Given the description of an element on the screen output the (x, y) to click on. 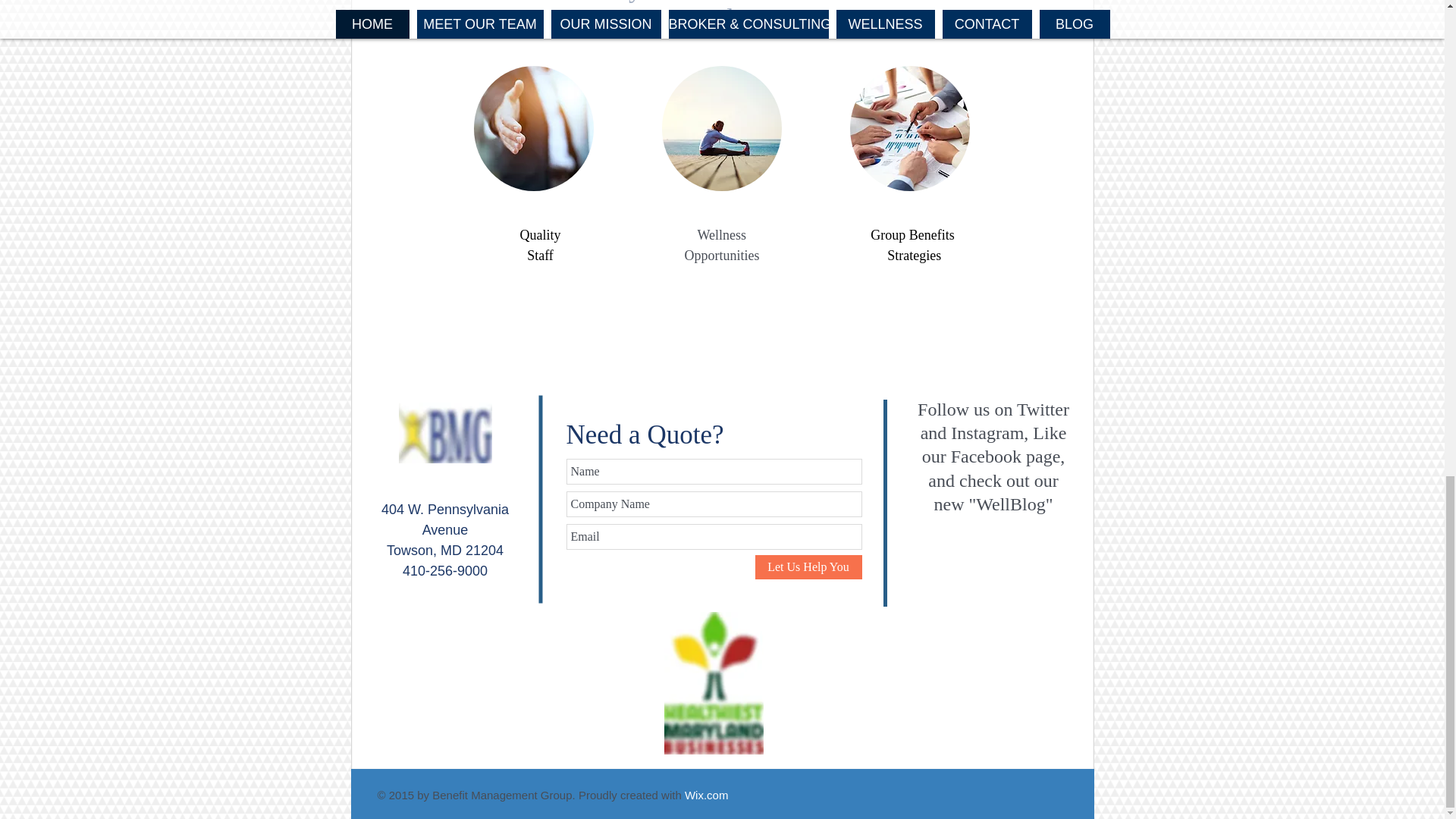
Group Benefits (911, 234)
Staff (540, 255)
Wix.com (706, 794)
Edited Image 2015-5-20-10:44:51 (445, 432)
Wellness (721, 234)
Quality (539, 234)
Let Us Help You (808, 567)
